Given the description of an element on the screen output the (x, y) to click on. 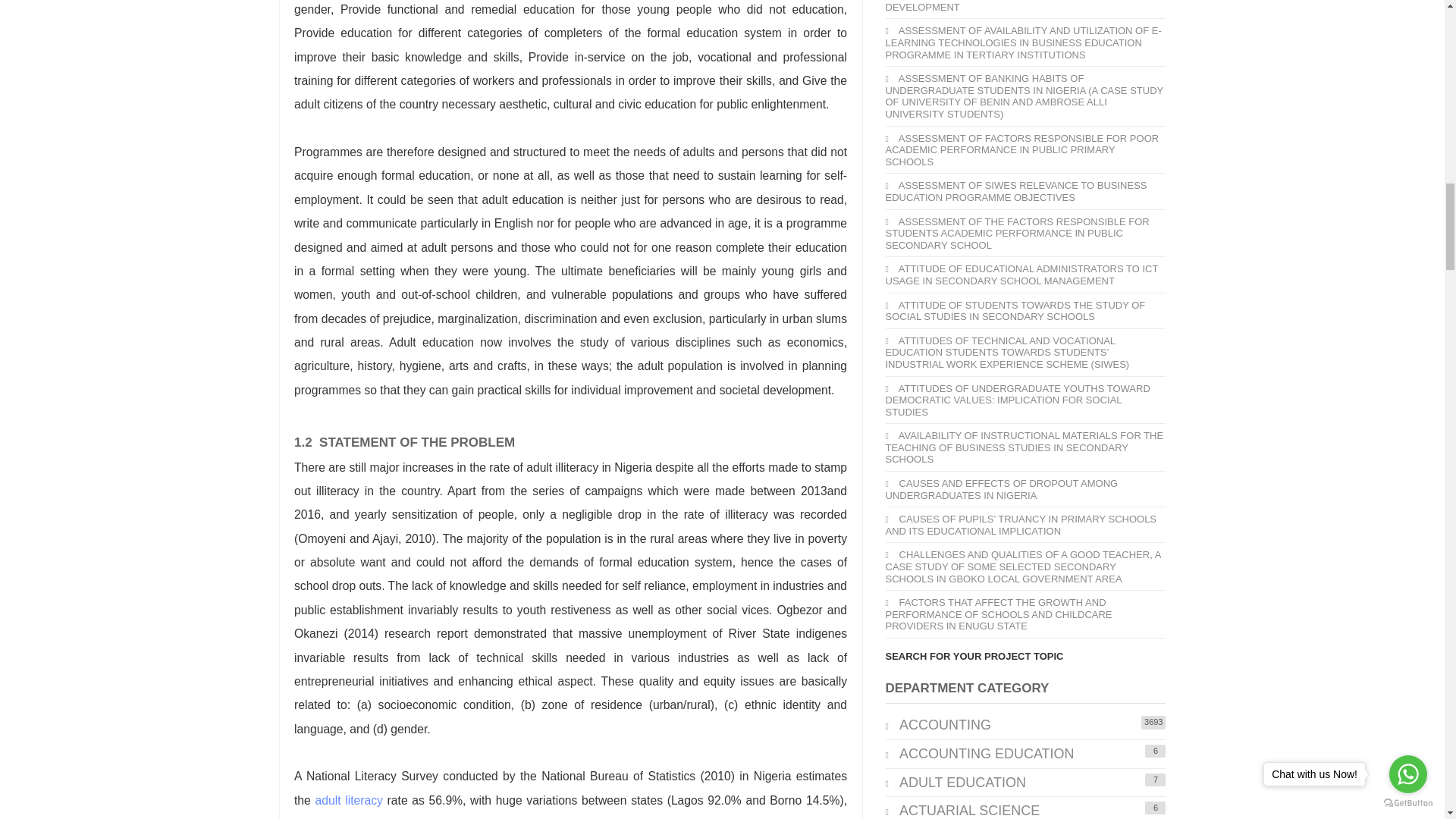
adult literacy (348, 799)
